Given the description of an element on the screen output the (x, y) to click on. 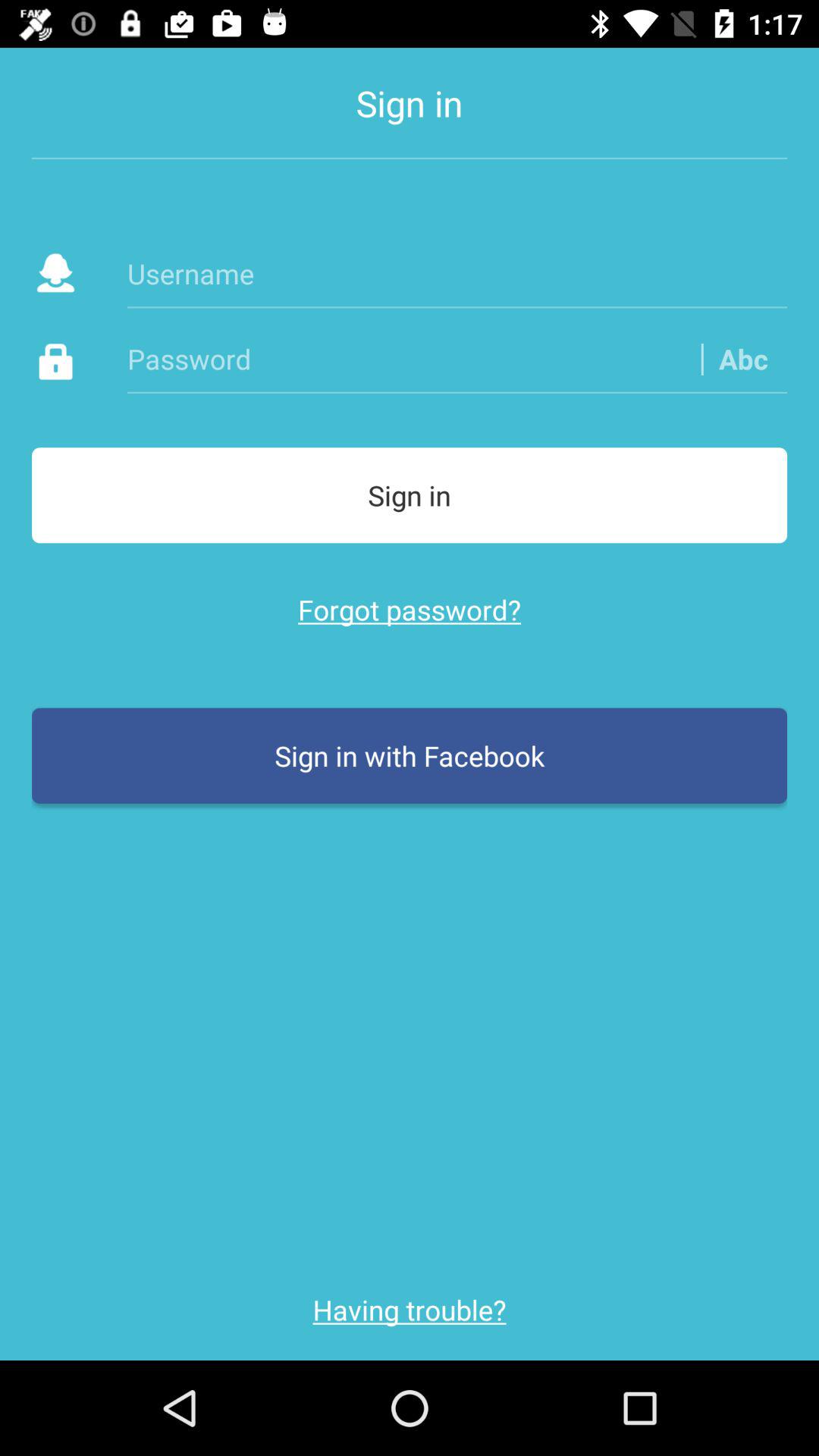
open the item above sign in icon (457, 358)
